Given the description of an element on the screen output the (x, y) to click on. 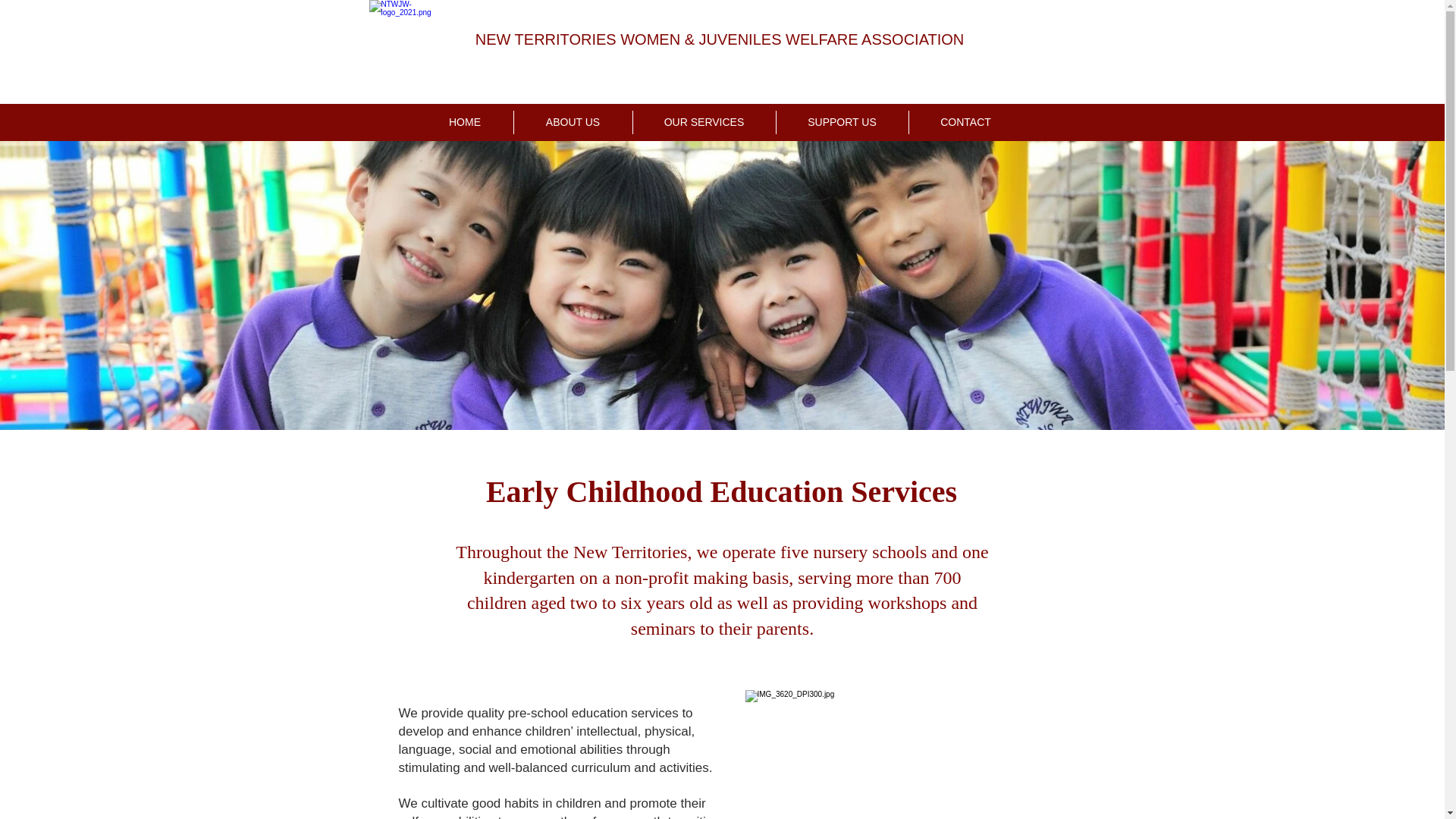
CONTACT (965, 122)
SUPPORT US (840, 122)
HOME (464, 122)
